Given the description of an element on the screen output the (x, y) to click on. 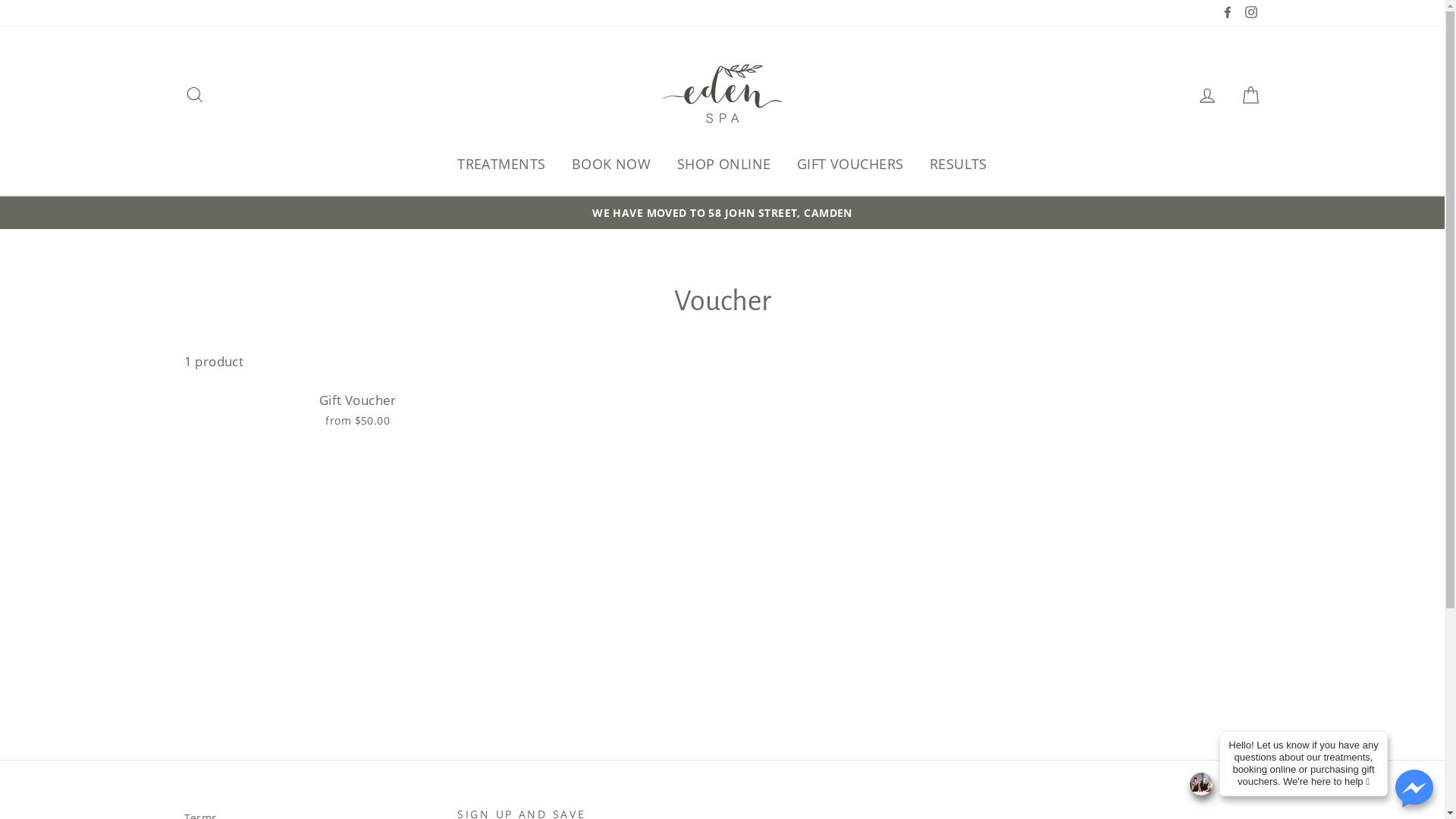
Instagram Element type: text (1250, 12)
TREATMENTS Element type: text (500, 163)
Gift Voucher
from $50.00 Element type: text (357, 407)
SHOP ONLINE Element type: text (723, 163)
BOOK NOW Element type: text (611, 163)
RESULTS Element type: text (958, 163)
GIFT VOUCHERS Element type: text (850, 163)
Skip to content Element type: text (0, 0)
Facebook Element type: text (1227, 12)
Cart Element type: text (1249, 94)
